Given the description of an element on the screen output the (x, y) to click on. 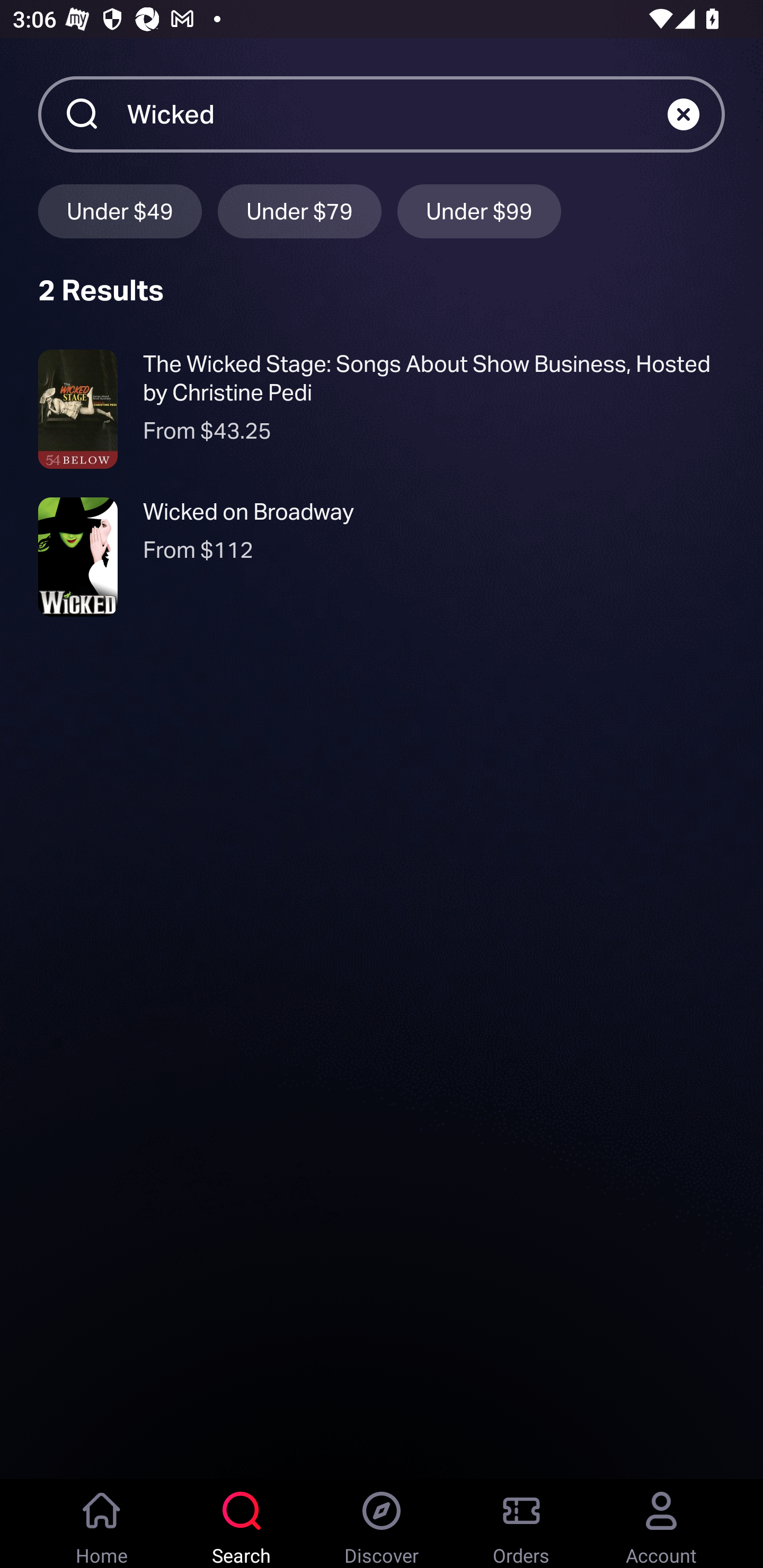
Wicked (397, 113)
Under $49 (120, 211)
Under $79 (299, 211)
Under $99 (478, 211)
Home (101, 1523)
Discover (381, 1523)
Orders (521, 1523)
Account (660, 1523)
